Given the description of an element on the screen output the (x, y) to click on. 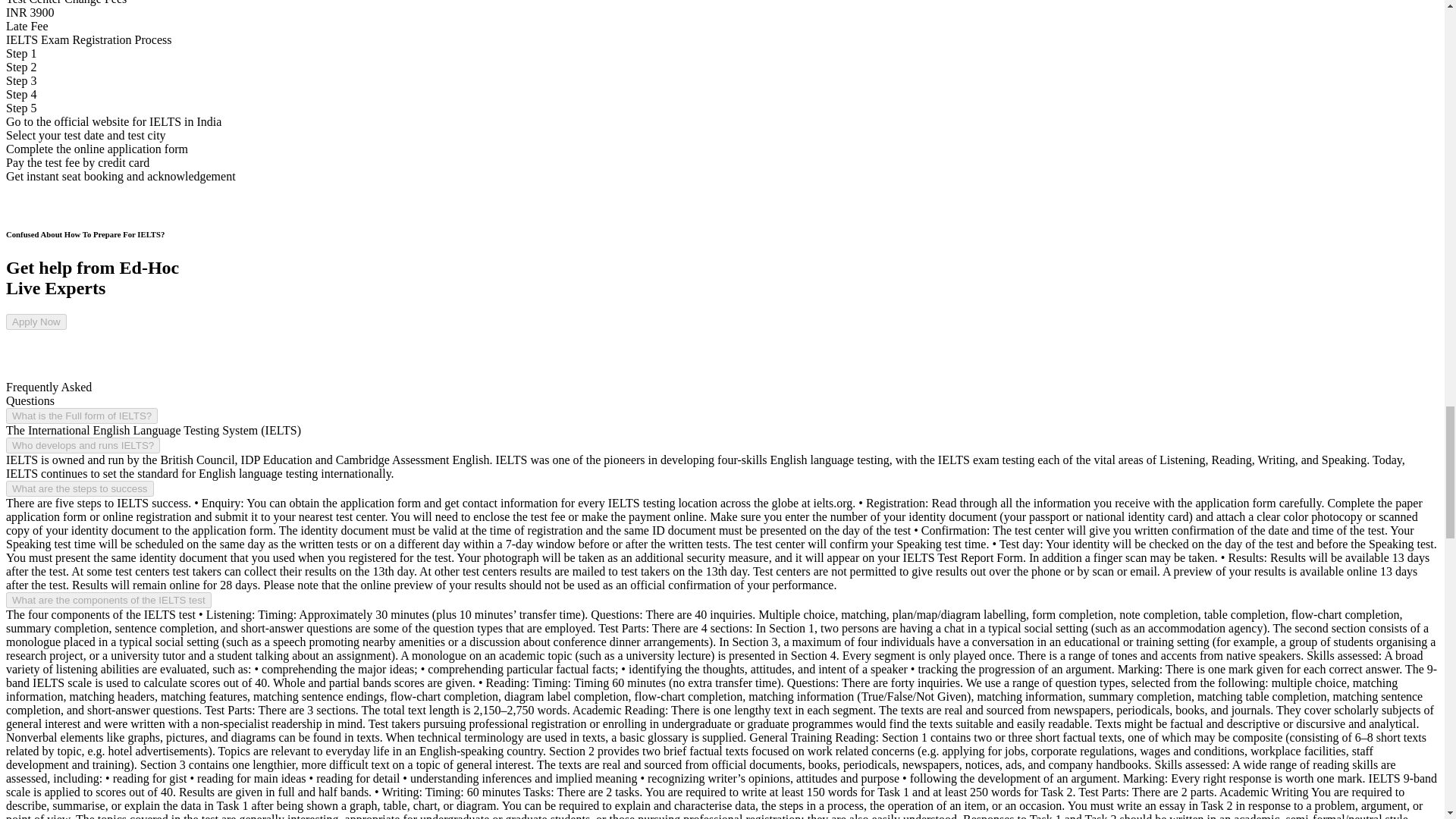
What are the components of the IELTS test (108, 600)
What is the Full form of IELTS? (81, 415)
Who develops and runs IELTS? (82, 445)
Apply Now (35, 321)
What are the steps to success (79, 488)
